Given the description of an element on the screen output the (x, y) to click on. 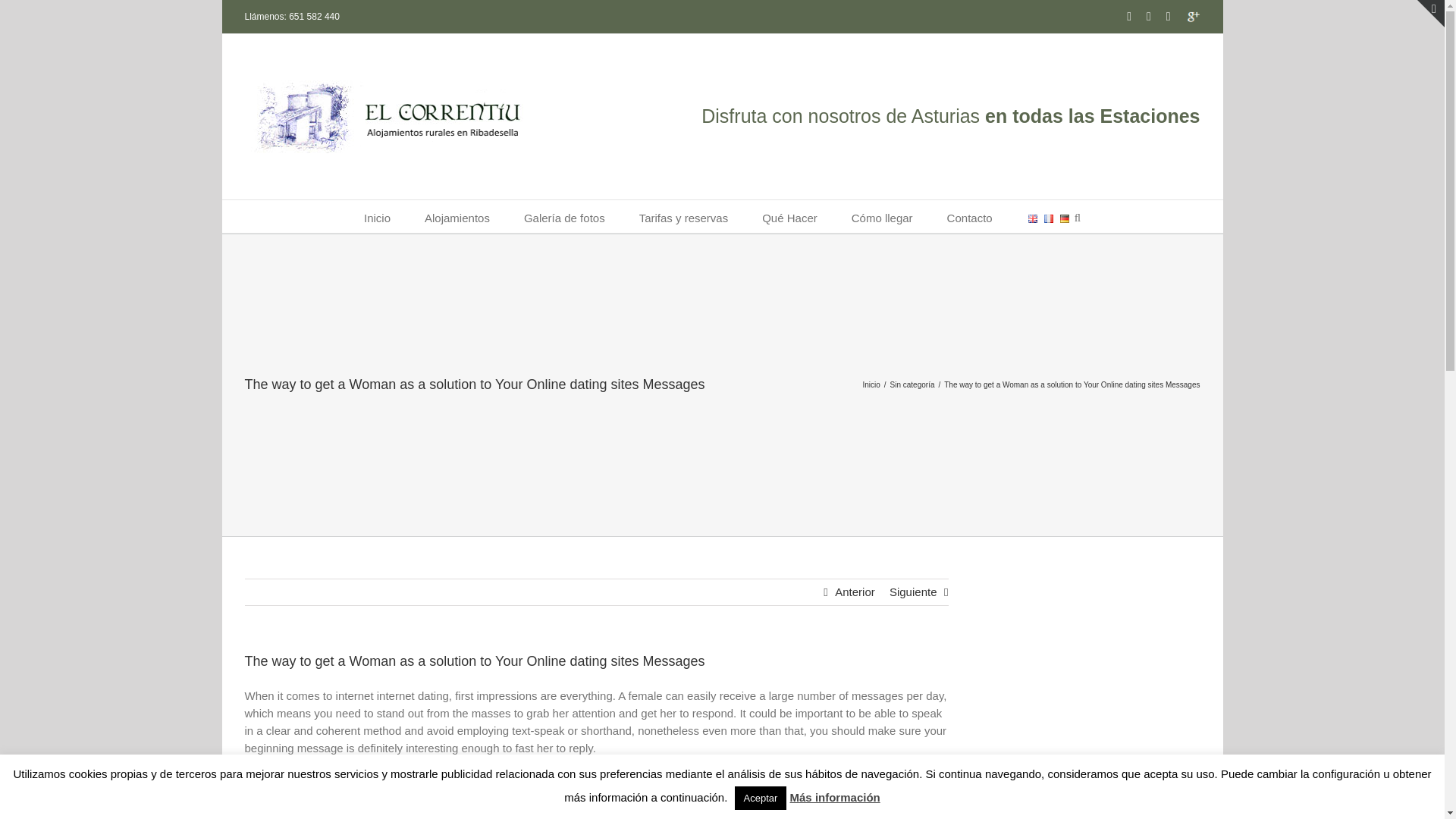
Tarifas y reservas (684, 215)
Contacto (969, 215)
Alojamientos (457, 215)
Google plus (1192, 16)
Google plus (1192, 16)
